Given the description of an element on the screen output the (x, y) to click on. 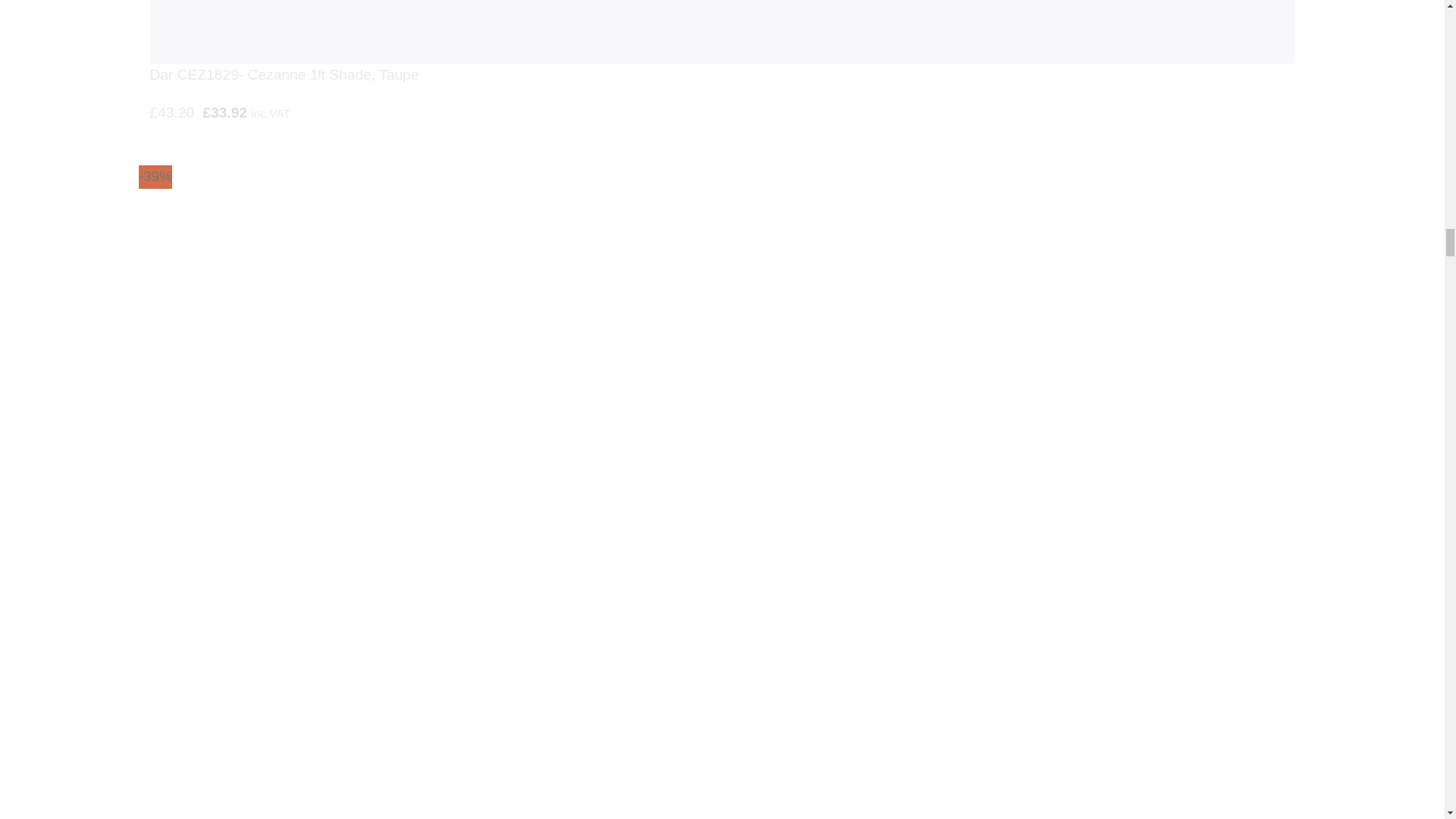
Dar CEZ1829- Cezanne 1lt Shade, Taupe (722, 31)
